Given the description of an element on the screen output the (x, y) to click on. 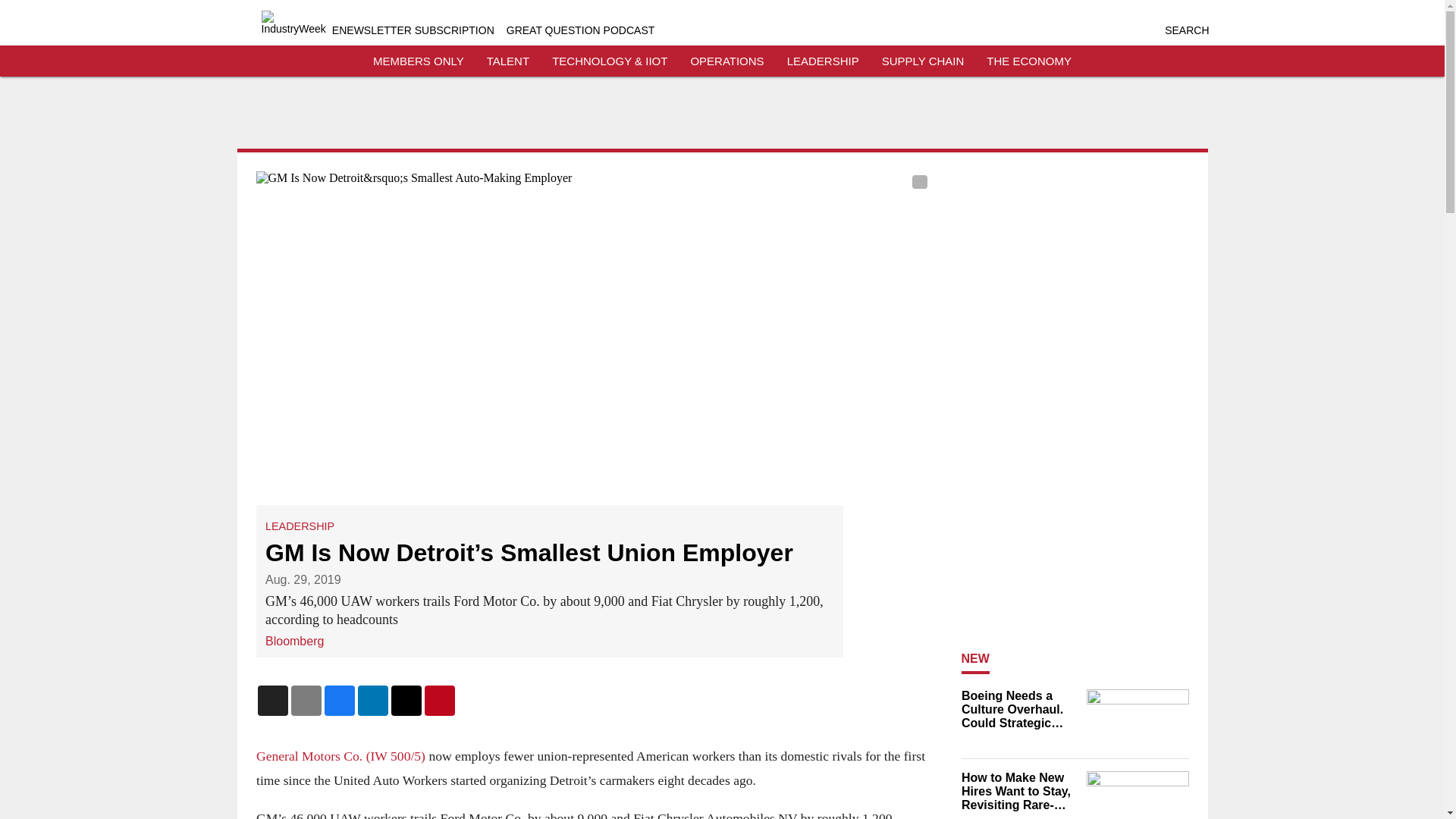
MEMBERS ONLY (418, 60)
SEARCH (1186, 30)
LEADERSHIP (299, 526)
OPERATIONS (726, 60)
TALENT (507, 60)
ENEWSLETTER SUBSCRIPTION (413, 30)
THE ECONOMY (1029, 60)
SUPPLY CHAIN (922, 60)
Bloomberg (293, 640)
LEADERSHIP (823, 60)
GREAT QUESTION PODCAST (580, 30)
